Given the description of an element on the screen output the (x, y) to click on. 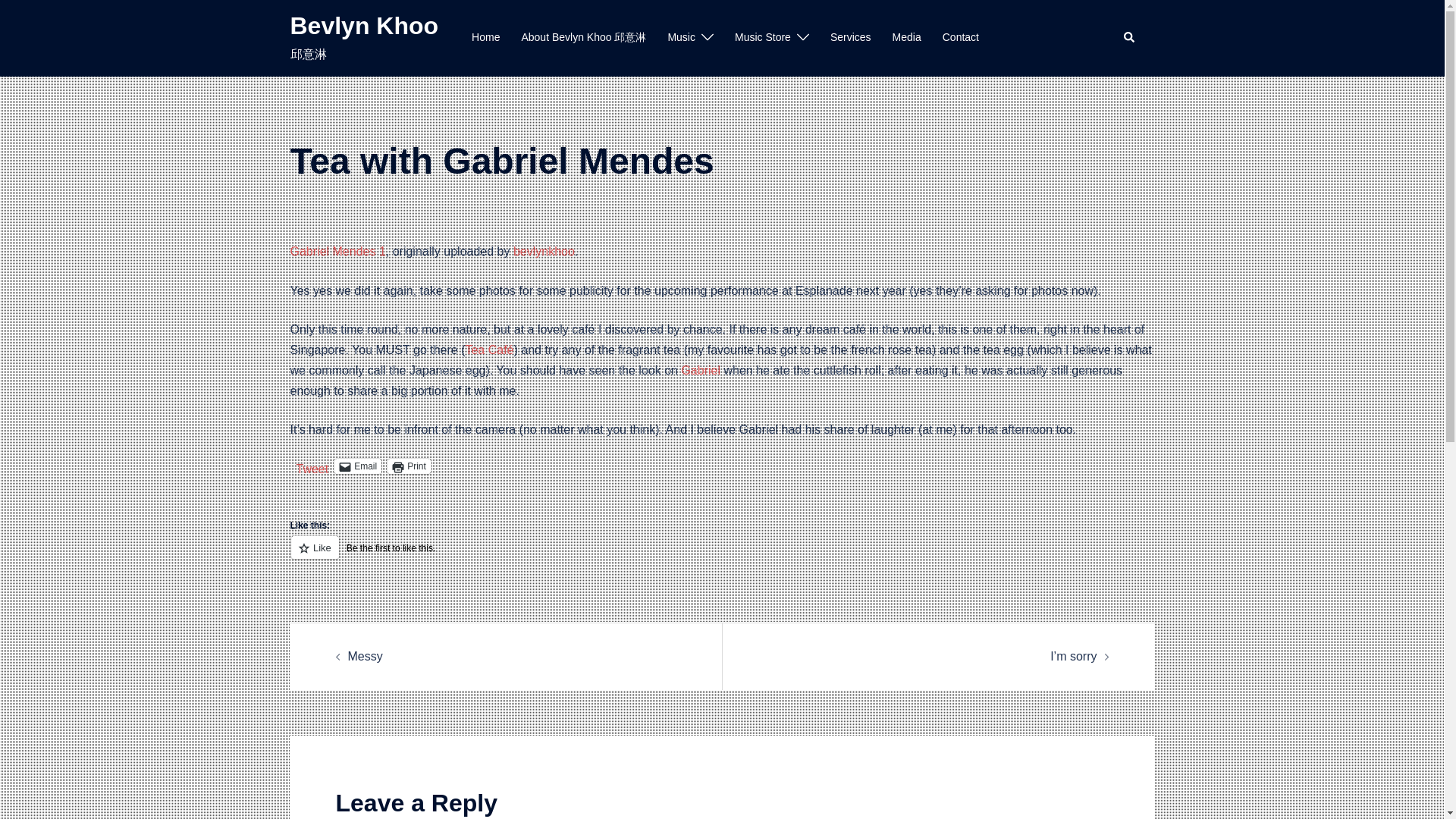
Gabriel (700, 369)
Music (680, 37)
Gabriel Mendes 1 (337, 250)
Media (906, 37)
Home (485, 37)
bevlynkhoo (544, 250)
Click to print (408, 466)
Like or Reblog (721, 556)
Music Store (762, 37)
Services (849, 37)
Contact (960, 37)
Tweet (312, 465)
Search (1129, 37)
Click to email a link to a friend (357, 466)
Bevlyn Khoo (363, 25)
